Given the description of an element on the screen output the (x, y) to click on. 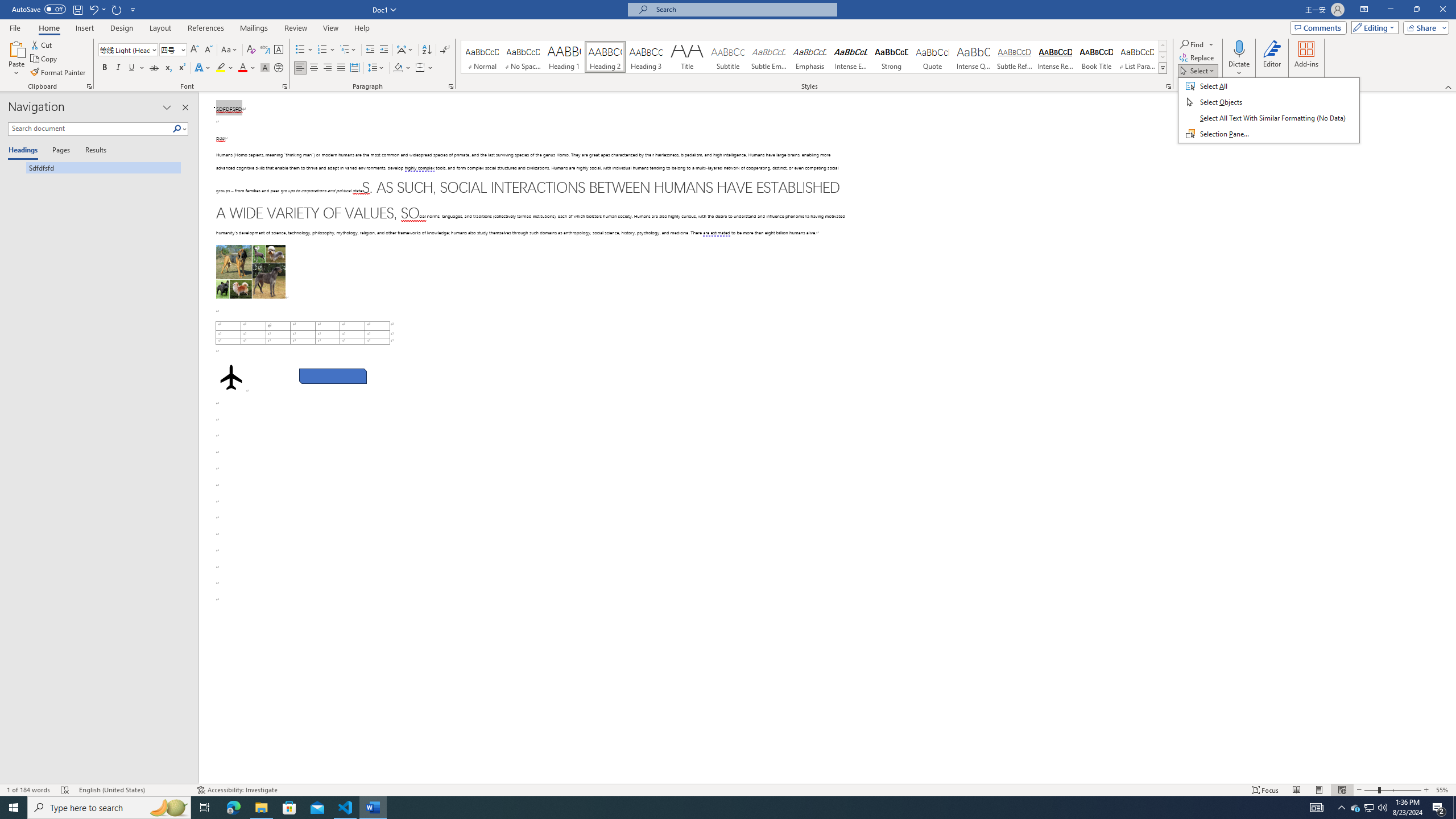
Repeat Style (117, 9)
Intense Quote (973, 56)
Running applications (717, 807)
Intense Reference (1055, 56)
